Given the description of an element on the screen output the (x, y) to click on. 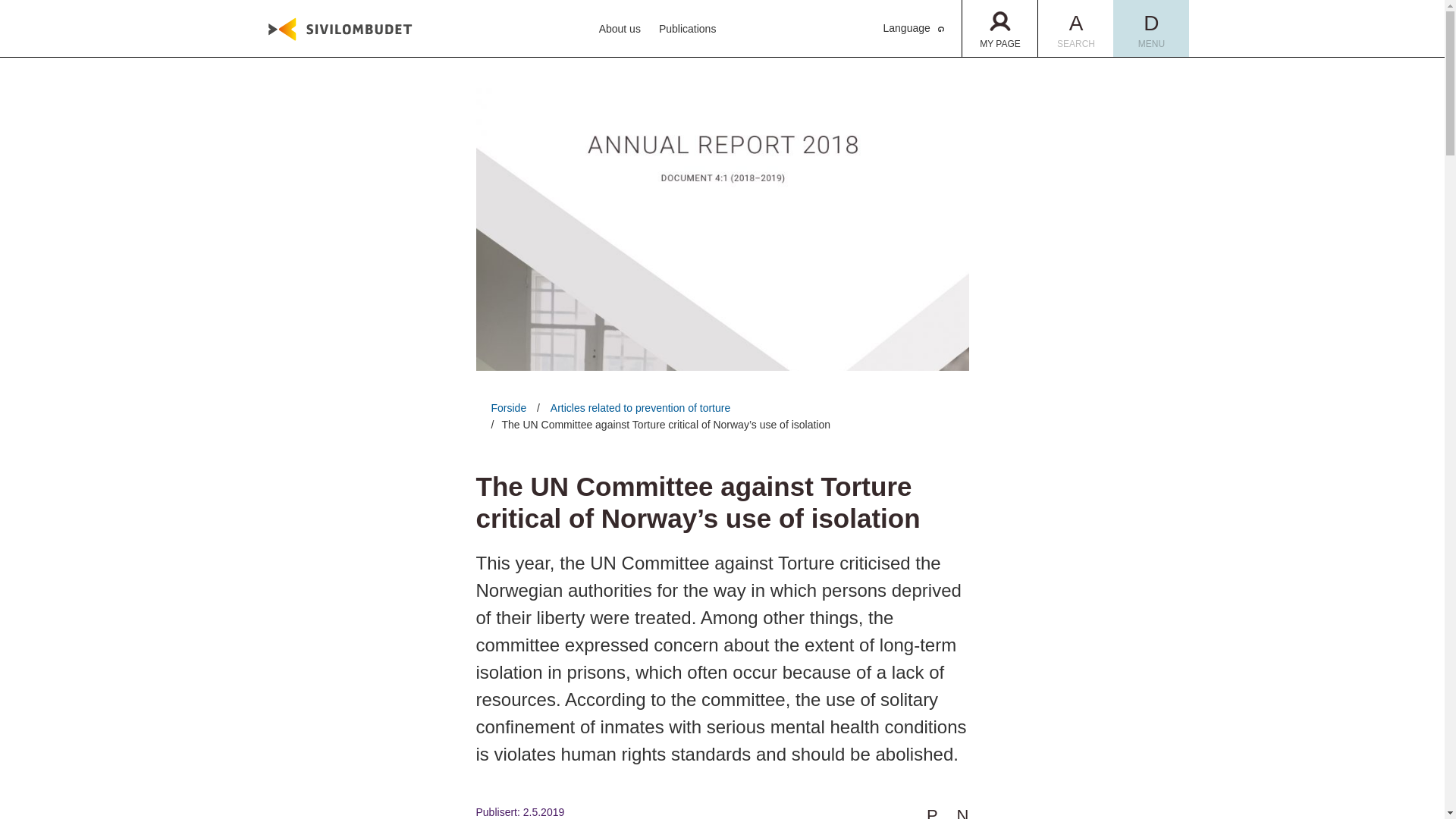
Language G (1151, 28)
Publications (1074, 28)
About us (913, 28)
MY PAGE (687, 28)
Sivilombudet (619, 28)
